Given the description of an element on the screen output the (x, y) to click on. 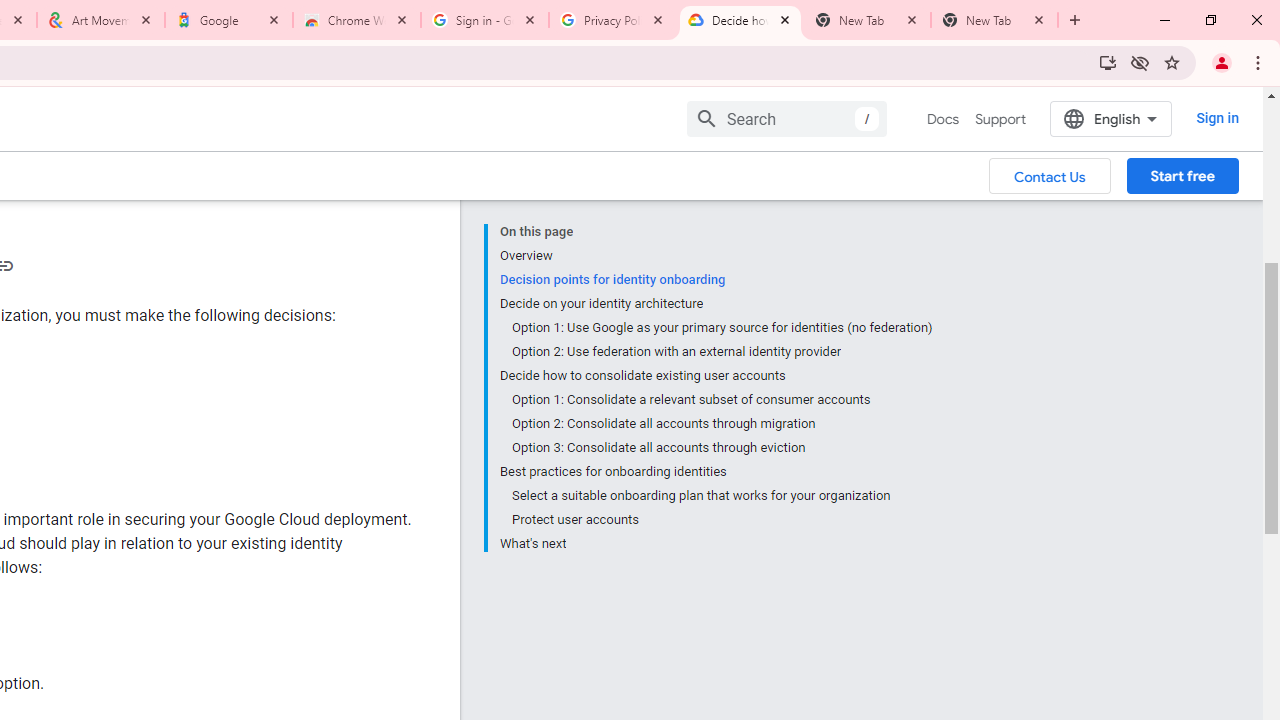
Start free (1182, 175)
Best practices for onboarding identities (716, 471)
New Tab (994, 20)
Option 3: Consolidate all accounts through eviction (721, 448)
Option 2: Consolidate all accounts through migration (721, 423)
Google (229, 20)
Decide how to consolidate existing user accounts (716, 376)
